Given the description of an element on the screen output the (x, y) to click on. 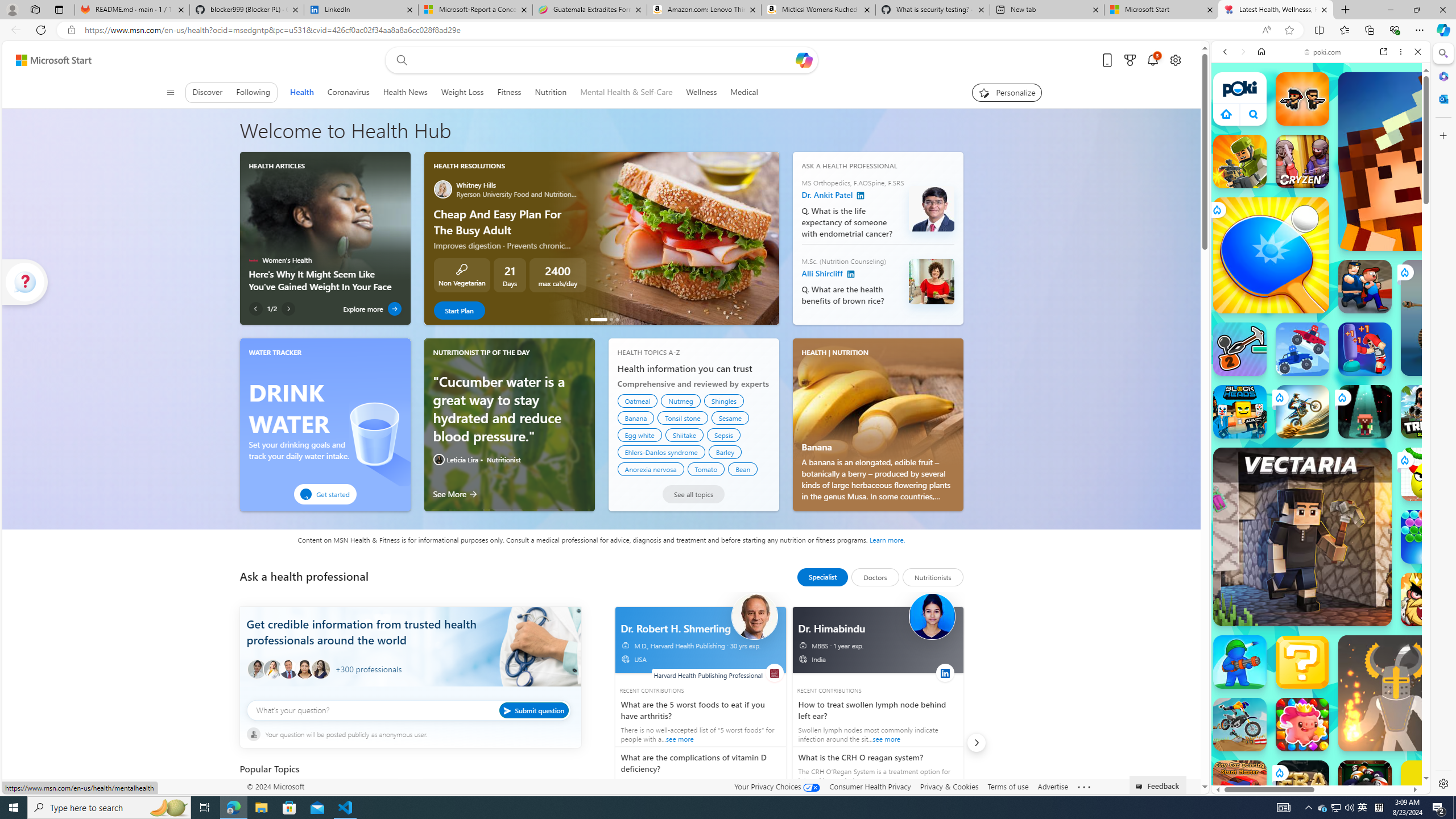
Background (409, 654)
Class: aprWdaSScyiJf4Jvmsx9 (1225, 113)
Medical (743, 92)
Vegetarian Low Calorie Meal Plan (610, 319)
Ragdoll Hit (1396, 693)
Sports Games (1320, 379)
Two Player Games (1320, 323)
Mental Health & Self-Care (626, 92)
